Given the description of an element on the screen output the (x, y) to click on. 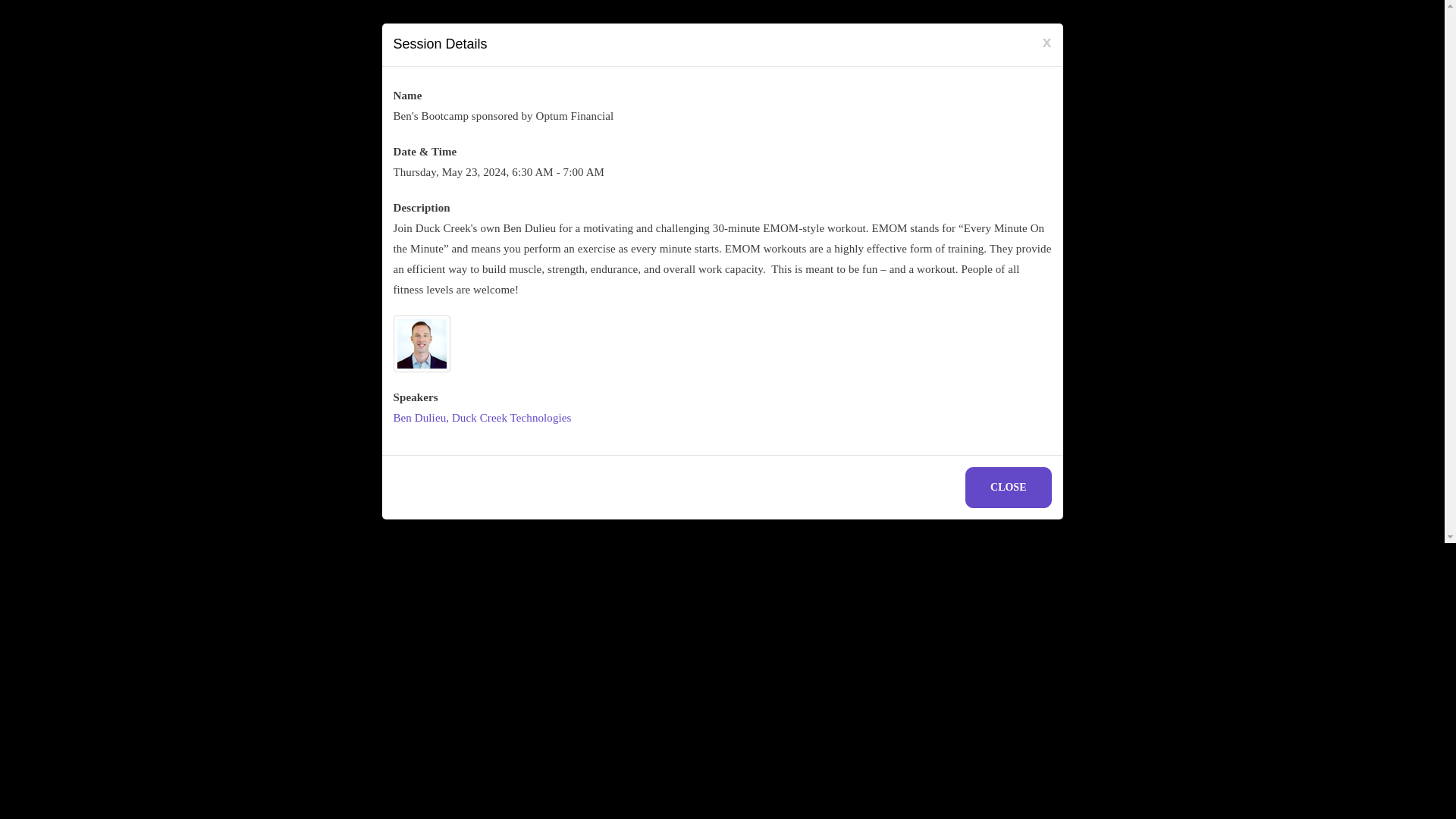
Speaker Details (481, 417)
Ben Dulieu, Duck Creek Technologies (481, 417)
CLOSE (1008, 486)
